Given the description of an element on the screen output the (x, y) to click on. 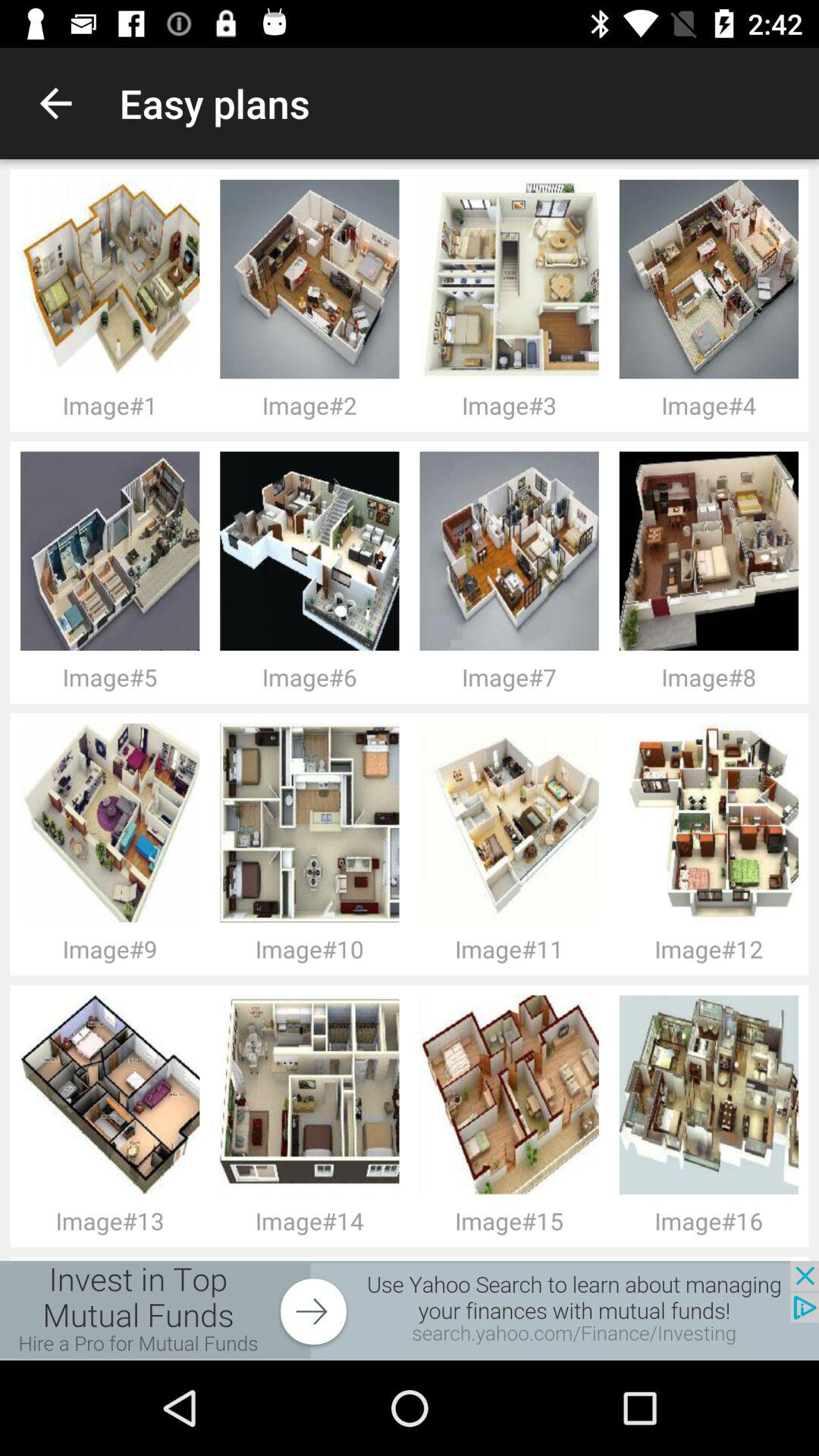
turn off the icon next to the easy plans  item (55, 103)
